Given the description of an element on the screen output the (x, y) to click on. 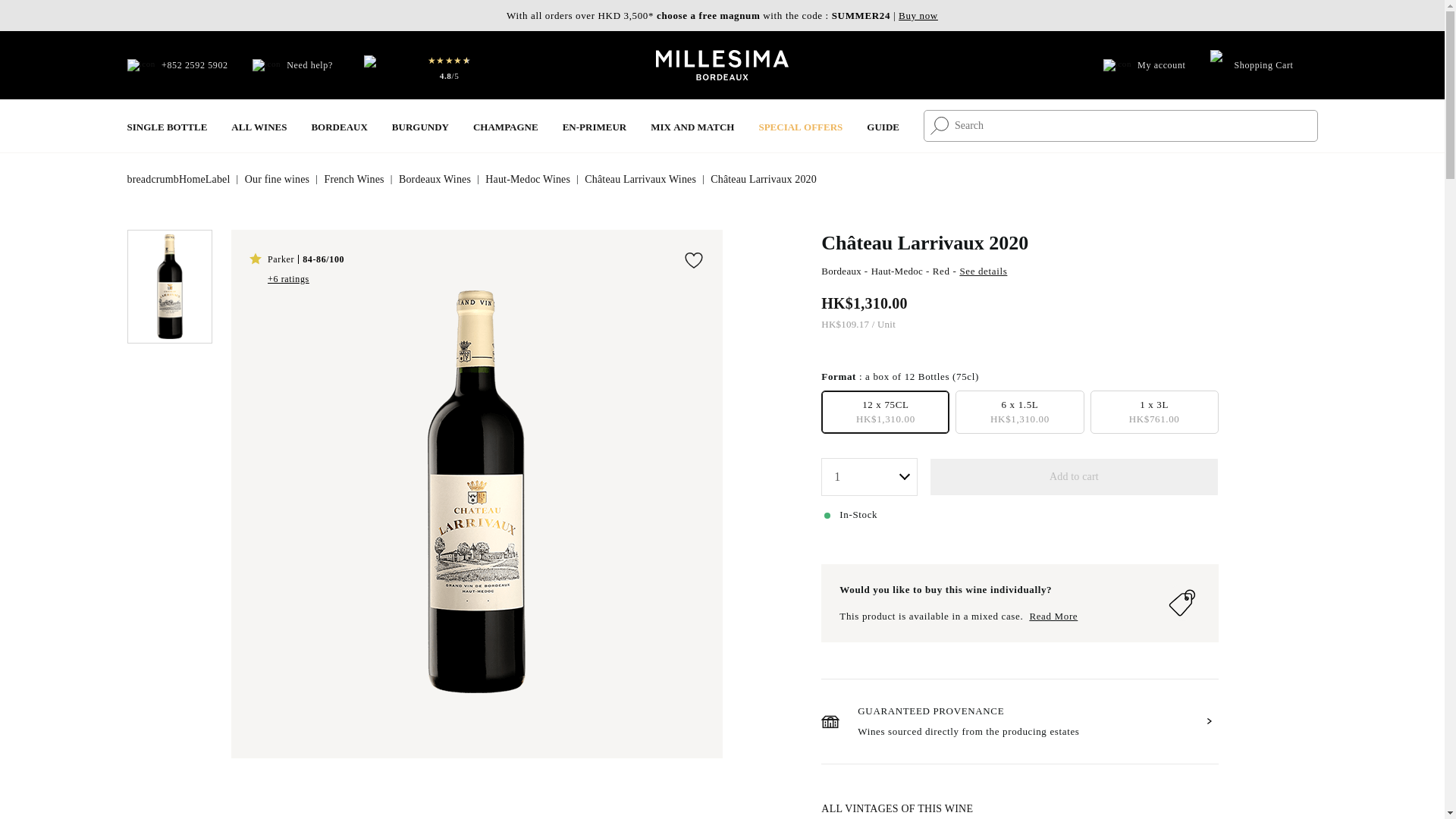
Special Offers (800, 125)
Single bottle (168, 125)
Bordeaux (338, 125)
Buy now (917, 15)
All Wines (258, 125)
Burgundy (419, 125)
Champagne (505, 125)
En-Primeur (594, 125)
Mix and match (691, 125)
